Given the description of an element on the screen output the (x, y) to click on. 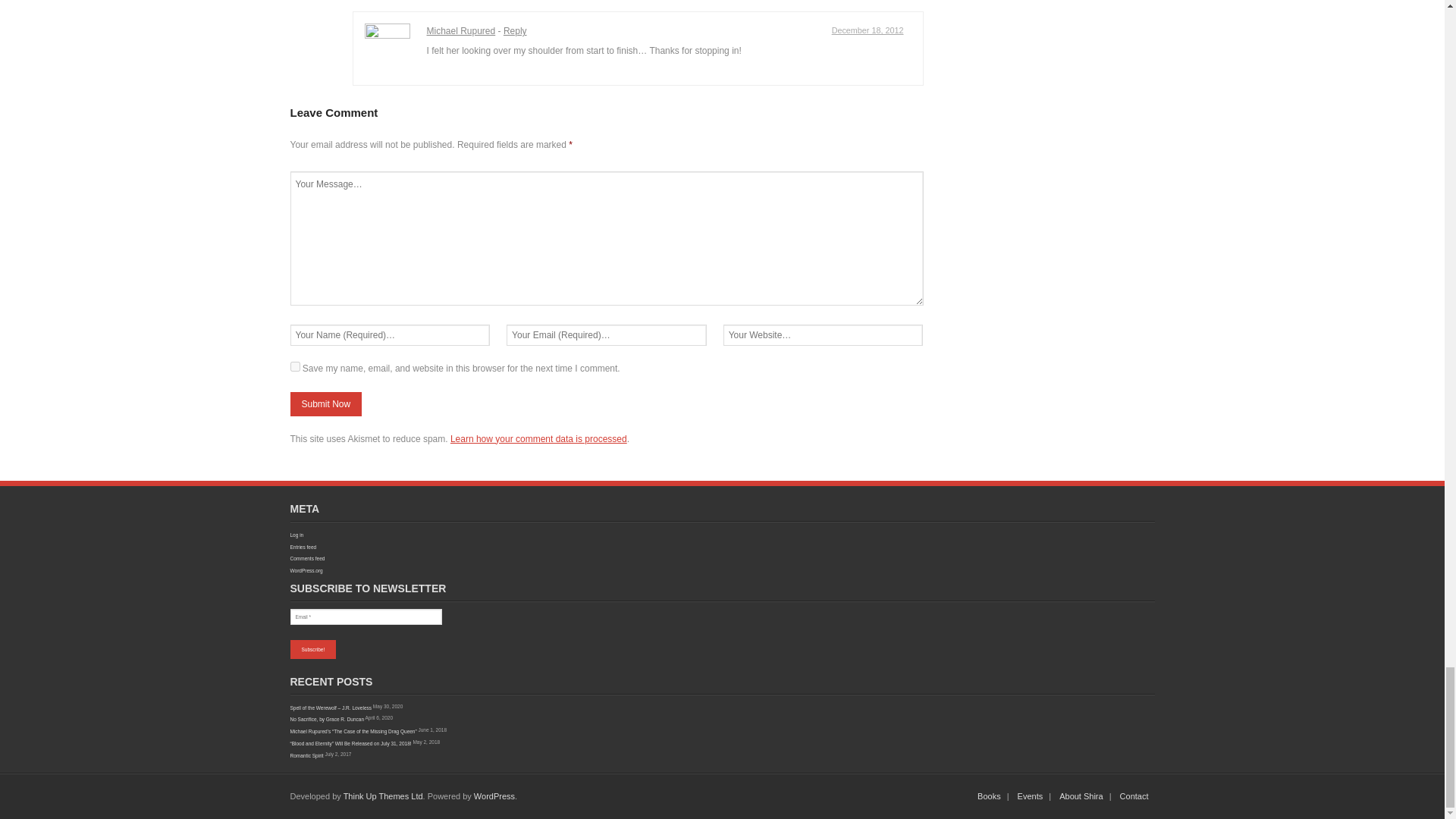
Subscribe! (312, 649)
yes (294, 366)
Submit Now (325, 404)
Email (365, 616)
